Given the description of an element on the screen output the (x, y) to click on. 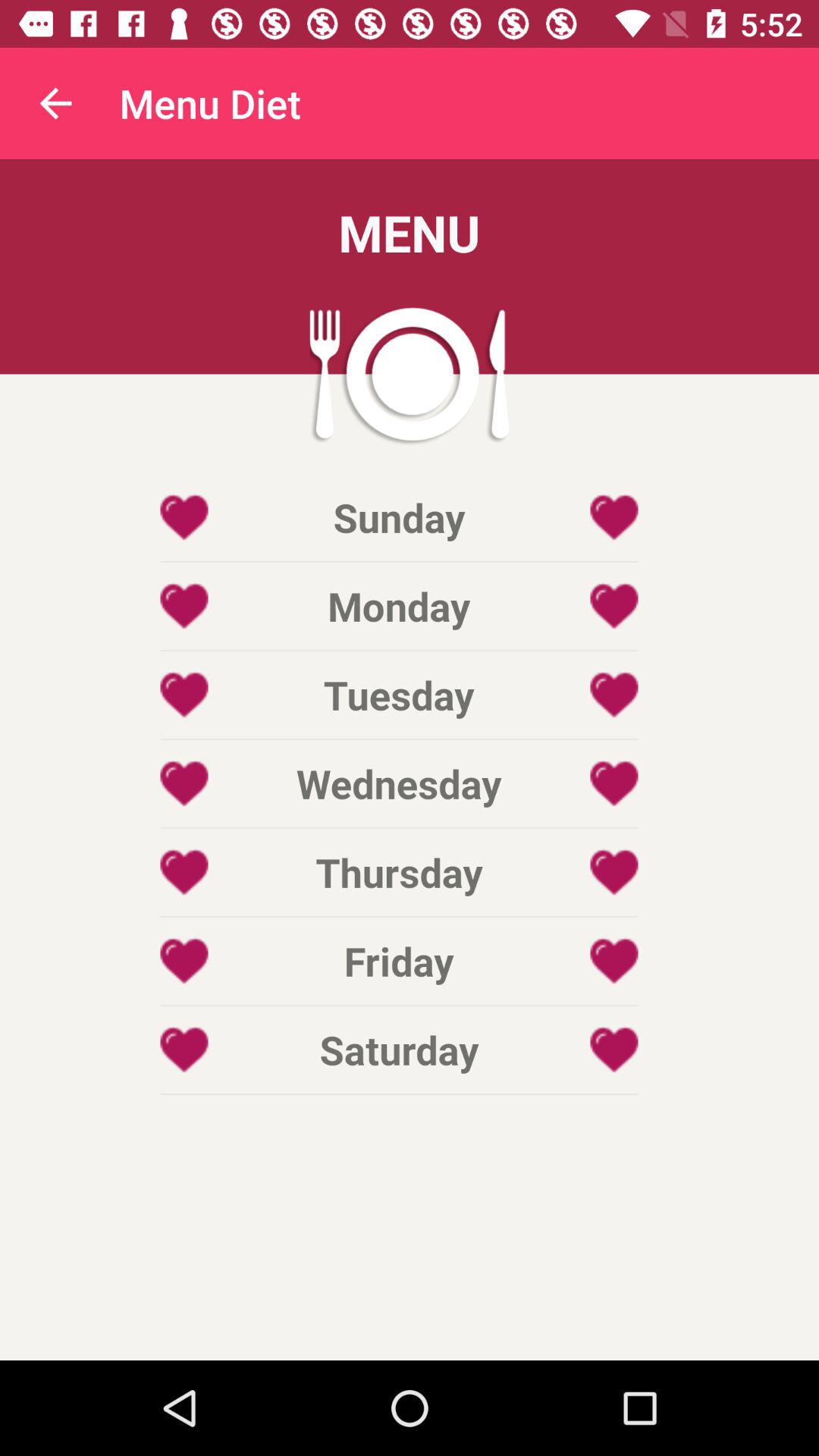
select the monday (398, 605)
